Given the description of an element on the screen output the (x, y) to click on. 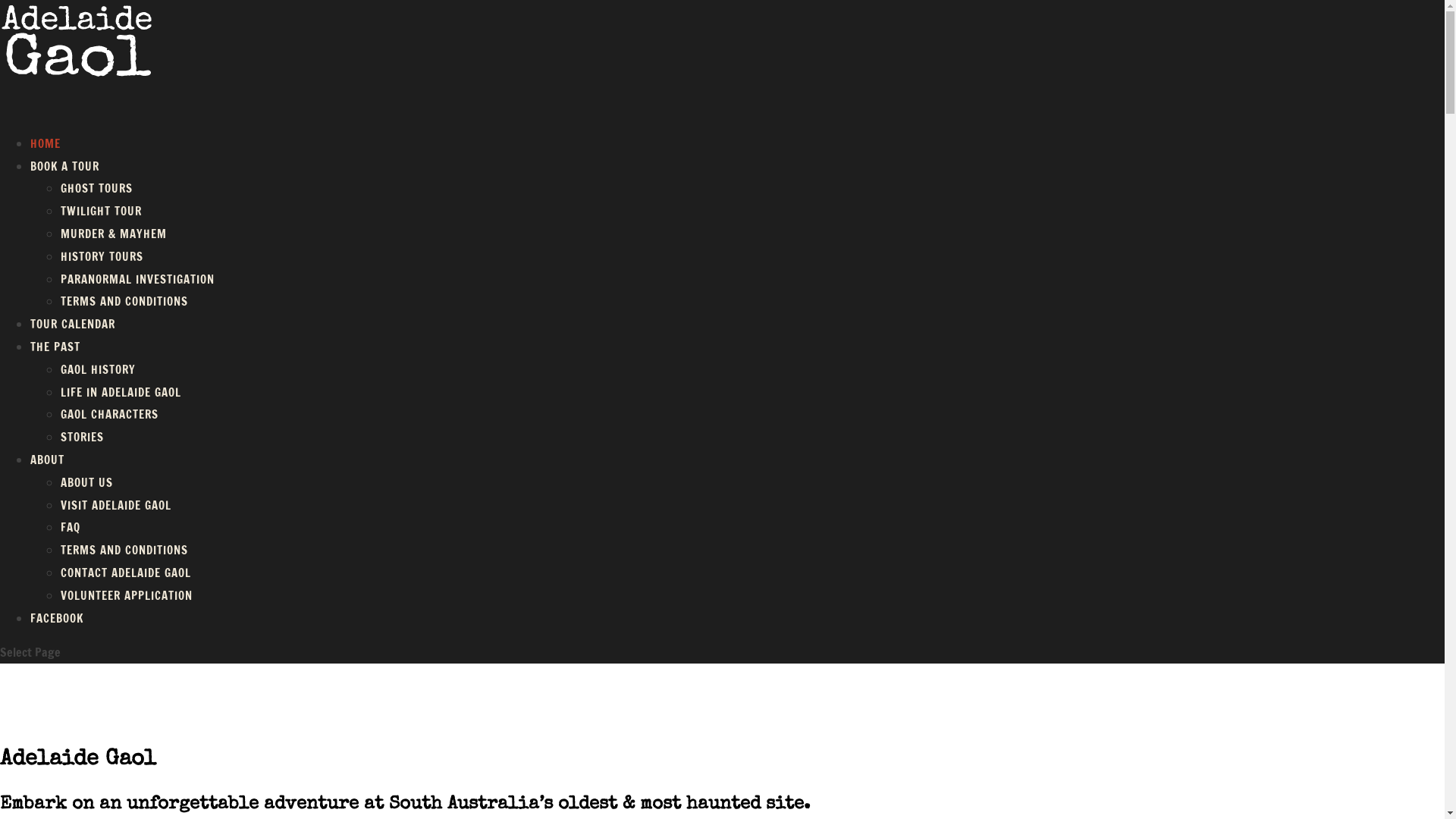
FACEBOOK Element type: text (56, 635)
PARANORMAL INVESTIGATION Element type: text (137, 279)
VISIT ADELAIDE GAOL Element type: text (115, 505)
CONTACT ADELAIDE GAOL Element type: text (125, 572)
GAOL CHARACTERS Element type: text (109, 414)
ABOUT US Element type: text (86, 482)
VOLUNTEER APPLICATION Element type: text (126, 595)
MURDER & MAYHEM Element type: text (113, 233)
HISTORY TOURS Element type: text (101, 256)
GHOST TOURS Element type: text (96, 188)
FAQ Element type: text (70, 527)
ABOUT Element type: text (47, 476)
TWILIGHT TOUR Element type: text (100, 211)
LIFE IN ADELAIDE GAOL Element type: text (120, 392)
TERMS AND CONDITIONS Element type: text (124, 301)
THE PAST Element type: text (55, 363)
TERMS AND CONDITIONS Element type: text (124, 550)
BOOK A TOUR Element type: text (64, 183)
STORIES Element type: text (81, 437)
HOME Element type: text (45, 160)
TOUR CALENDAR Element type: text (72, 341)
GAOL HISTORY Element type: text (97, 369)
